Given the description of an element on the screen output the (x, y) to click on. 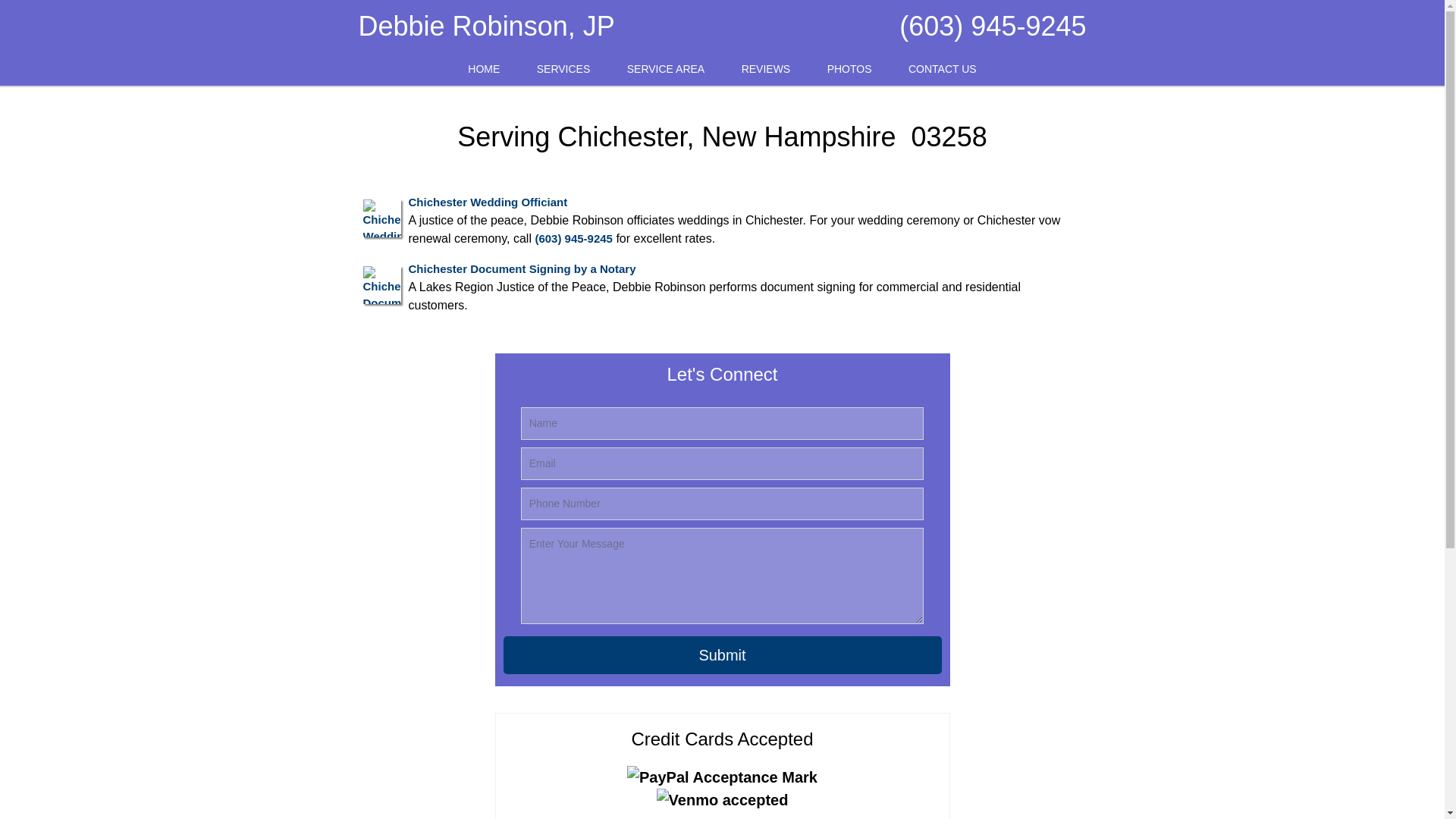
SERVICE AREA (665, 69)
HOME (483, 69)
REVIEWS (766, 69)
SERVICES (563, 69)
Chichester Document Signing by a Notary (520, 268)
Chichester Wedding Officiant (487, 201)
CONTACT US (941, 69)
Submit (722, 655)
PHOTOS (849, 69)
